Given the description of an element on the screen output the (x, y) to click on. 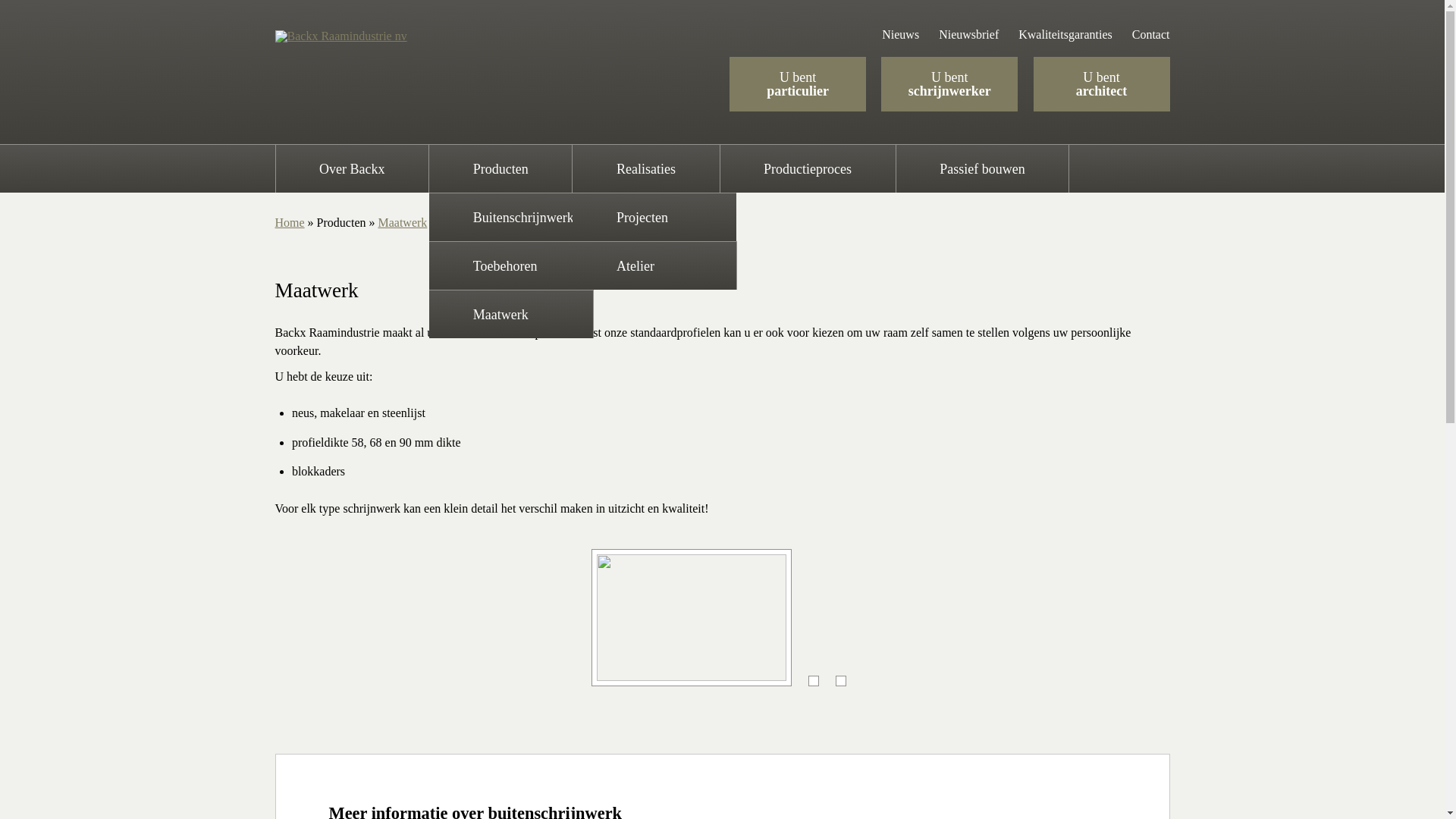
Toebehoren Element type: text (511, 265)
Buitenschrijnwerk Element type: text (511, 217)
Maatwerk Element type: text (511, 314)
U bent
schrijnwerker Element type: text (949, 83)
Home Element type: text (289, 222)
Nieuws Element type: text (900, 34)
Contact Element type: text (1151, 34)
Nieuwsbrief Element type: text (968, 34)
Passief bouwen Element type: text (982, 168)
Skip to main content Element type: text (683, 1)
Projecten Element type: text (654, 217)
Backx Raamindustrie nv Element type: hover (340, 35)
Maatwerk Element type: text (401, 222)
Kwaliteitsgaranties Element type: text (1065, 34)
Atelier Element type: text (654, 265)
Productieproces Element type: text (807, 168)
Over Backx Element type: text (352, 168)
U bent
particulier Element type: text (797, 83)
U bent
architect Element type: text (1100, 83)
